Given the description of an element on the screen output the (x, y) to click on. 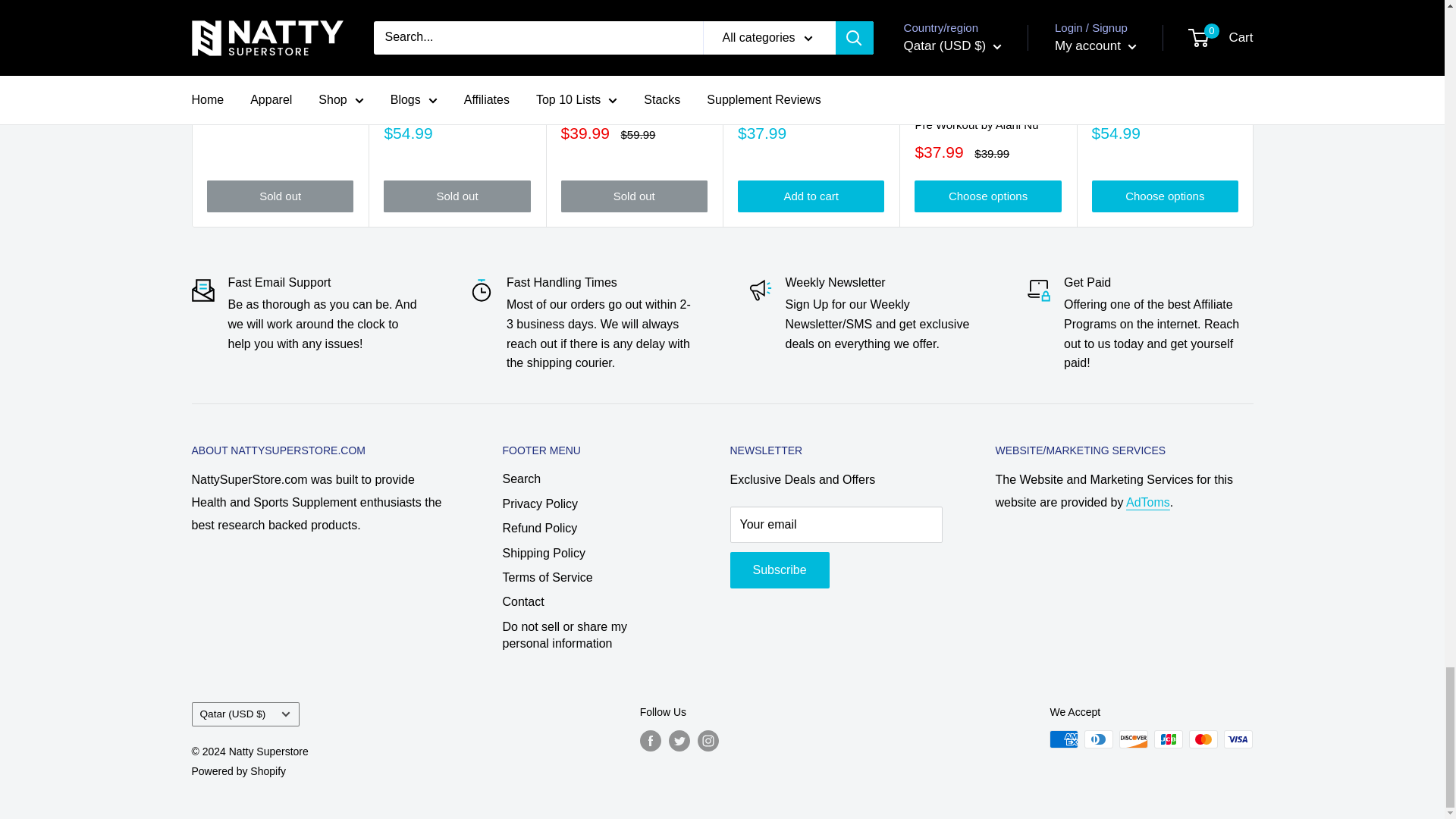
AdToms (1147, 502)
